Given the description of an element on the screen output the (x, y) to click on. 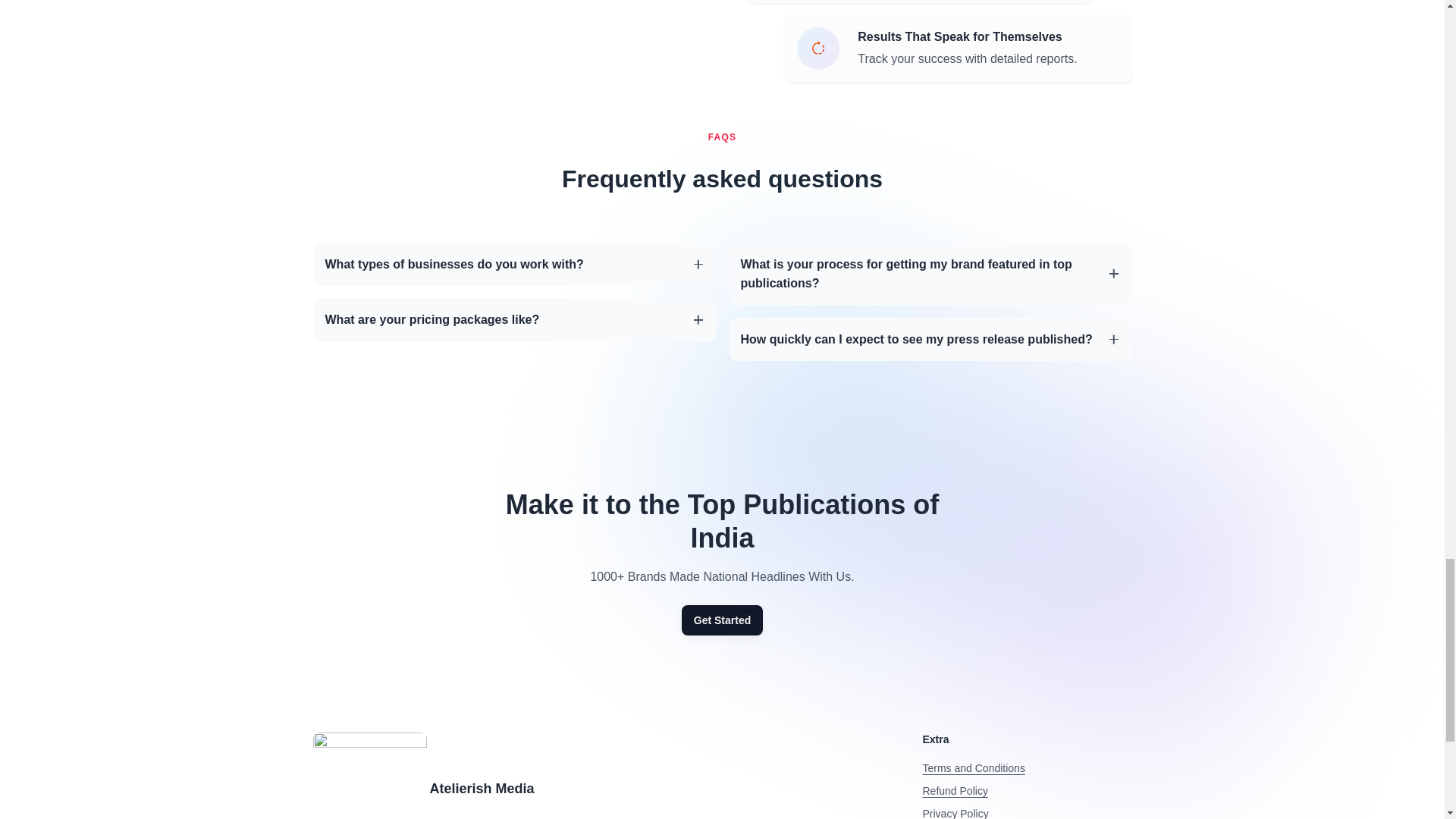
Terms and Conditions (973, 767)
Privacy Policy (954, 813)
Atelierish Media (481, 788)
Get Started (721, 620)
rotate right icon (818, 48)
Refund Policy (954, 790)
